Given the description of an element on the screen output the (x, y) to click on. 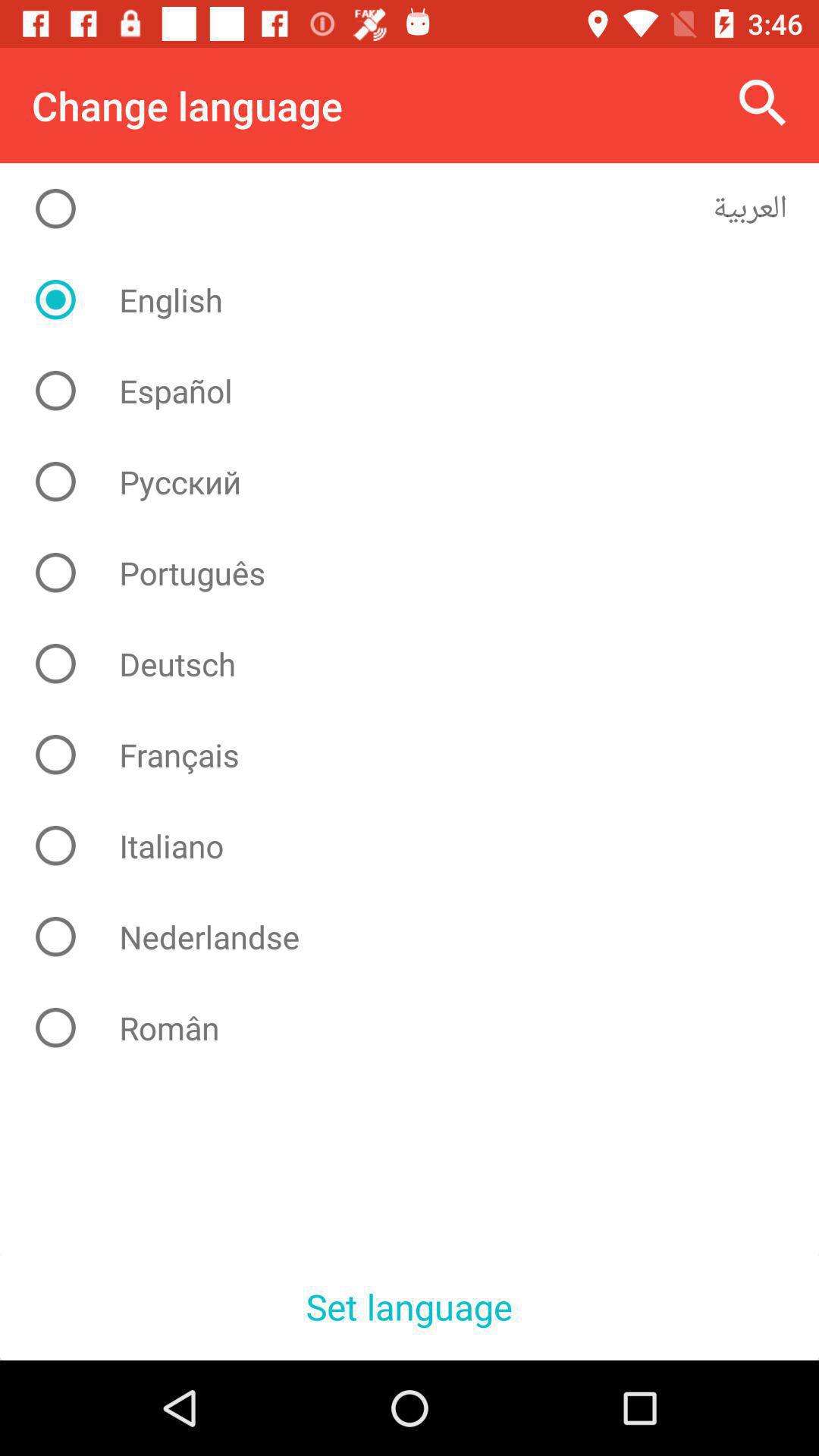
open icon above the italiano icon (421, 754)
